Given the description of an element on the screen output the (x, y) to click on. 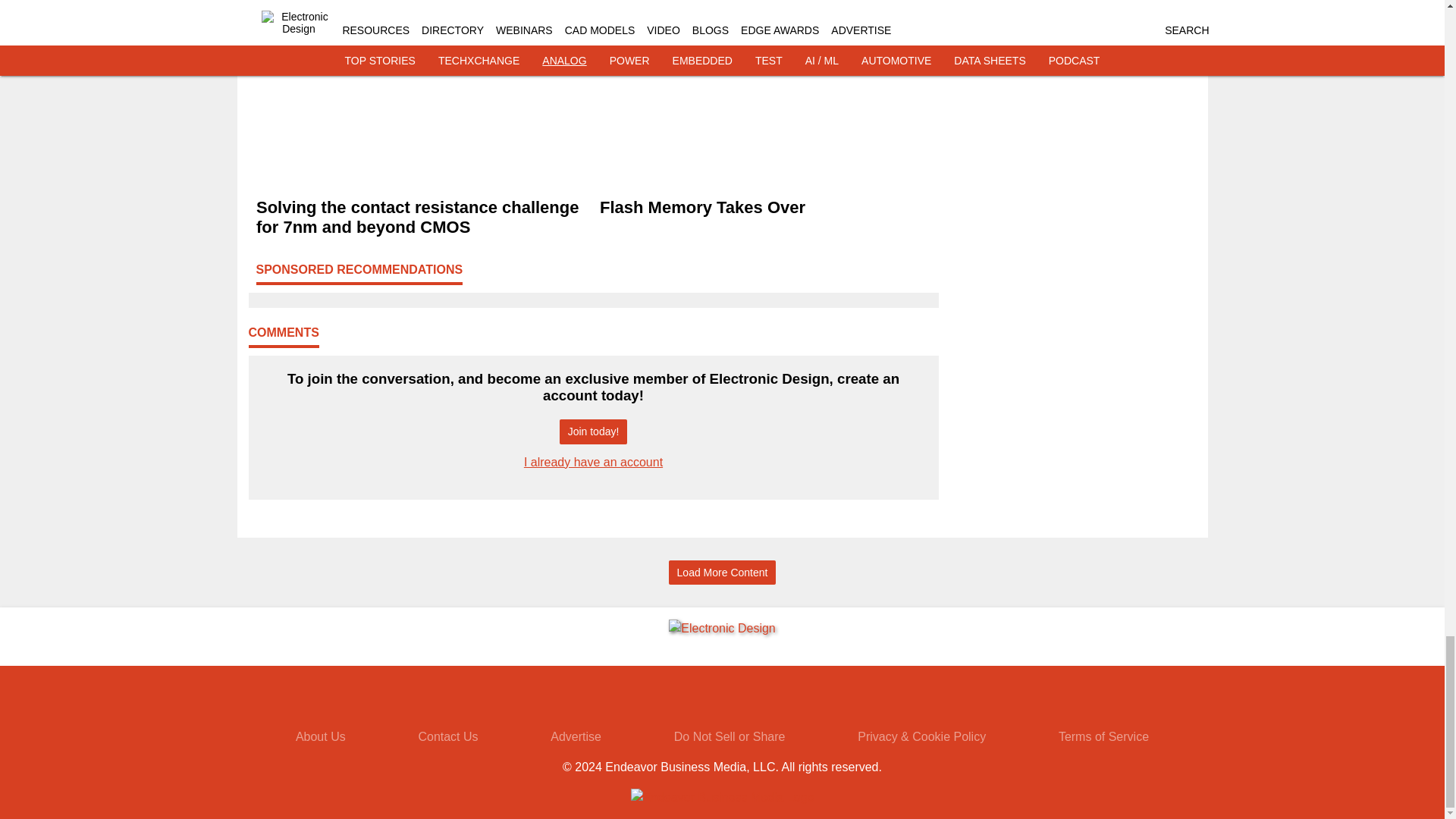
Flash Memory Takes Over (764, 207)
I already have an account (593, 461)
Join today! (593, 431)
